Given the description of an element on the screen output the (x, y) to click on. 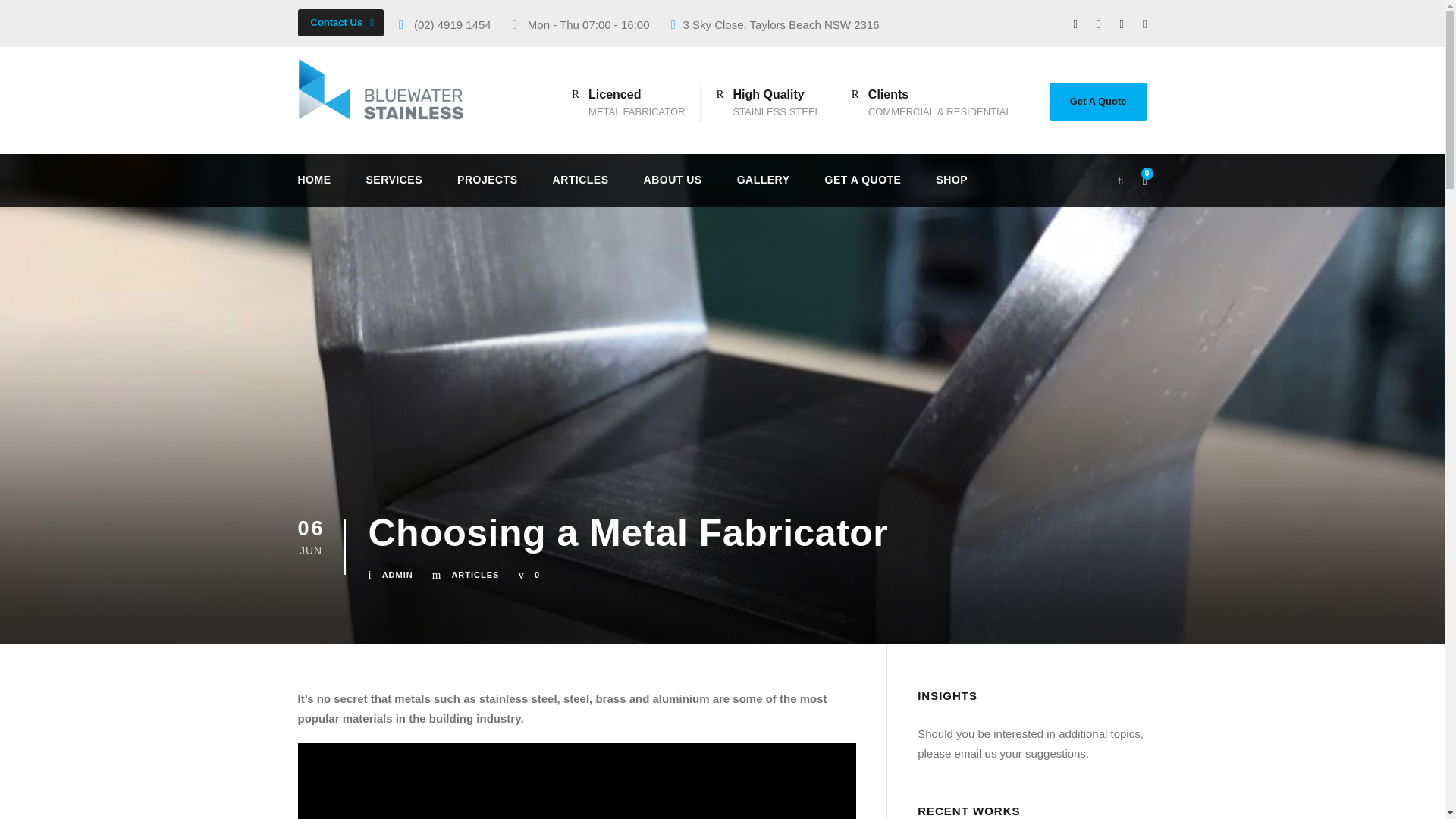
Bluewater-Stainless-Header-Logo (388, 88)
Posts by admin (397, 574)
